Given the description of an element on the screen output the (x, y) to click on. 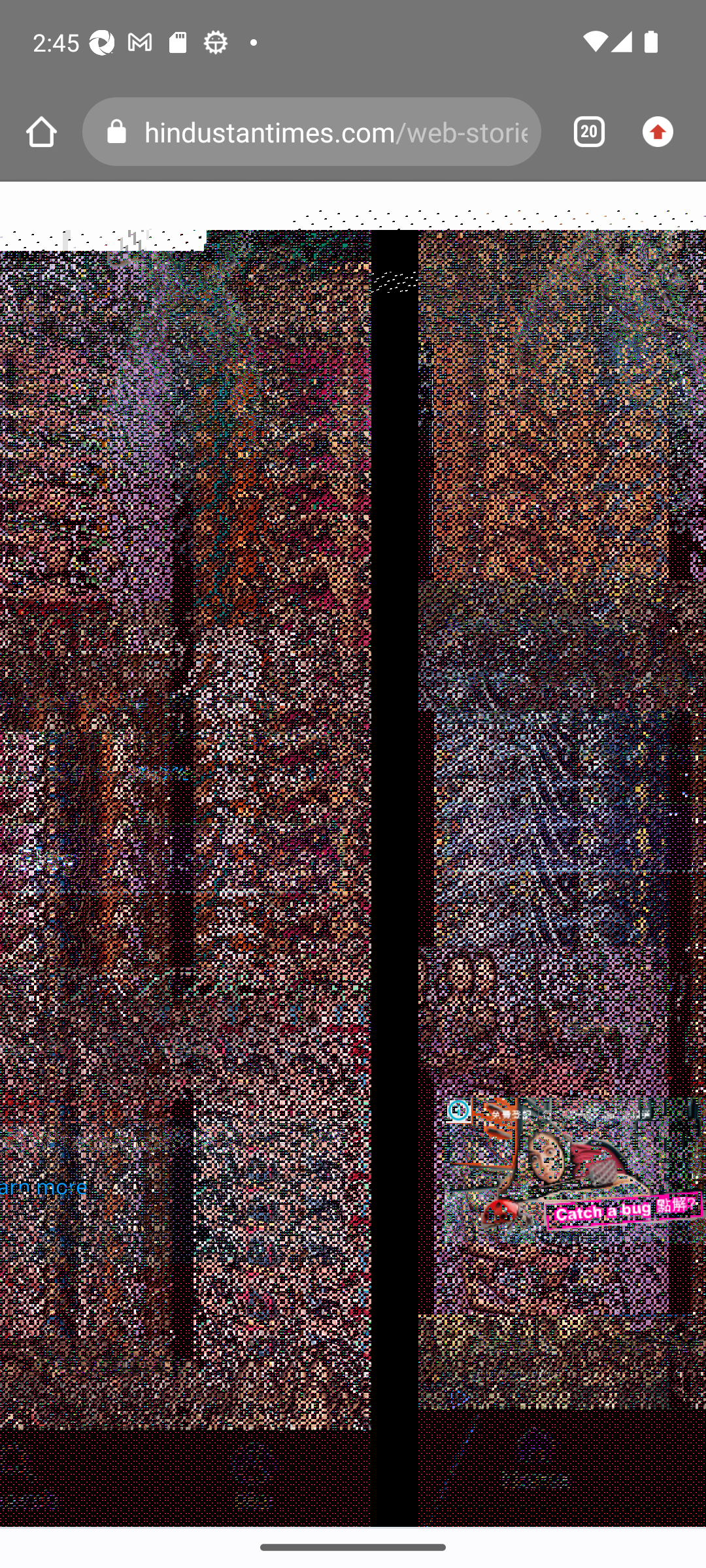
Home (41, 131)
Connection is secure (120, 131)
Switch or close tabs (582, 131)
Update available. More options (664, 131)
